Given the description of an element on the screen output the (x, y) to click on. 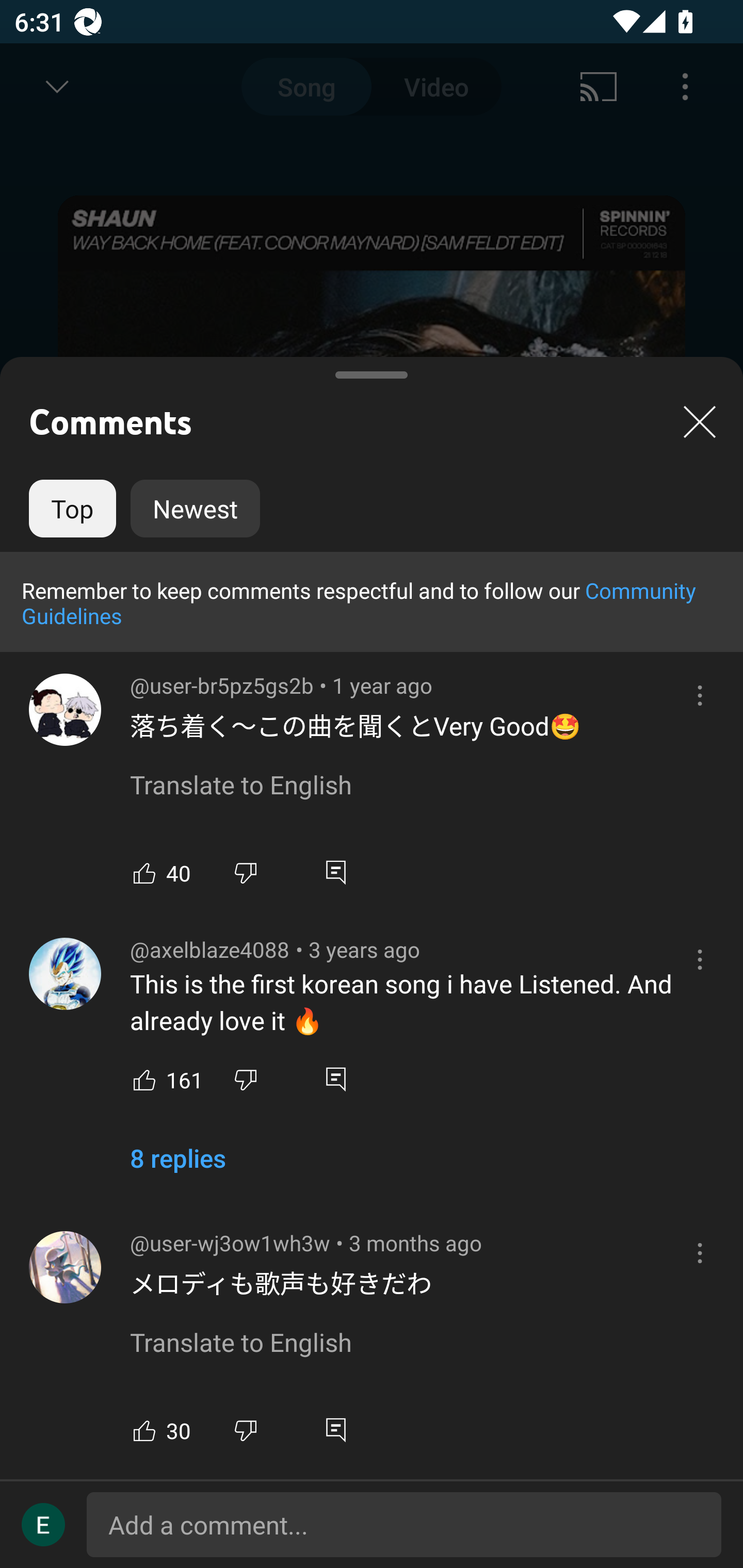
Drag handle (371, 367)
Close (699, 421)
Top (71, 508)
Newest (195, 508)
Action menu (349, 635)
@user-br5pz5gs2b (64, 710)
Translate to English (241, 786)
Like this comment along with 40 other people (144, 872)
Dislike this comment (245, 872)
Reply (335, 872)
@axelblaze4088 (64, 973)
Like this comment along with 161 other people (144, 1079)
Dislike this comment (245, 1079)
Reply (335, 1079)
View 8 total replies (177, 1165)
@user-wj3ow1wh3w (64, 1266)
Translate to English (241, 1343)
Like this comment along with 30 other people (144, 1430)
Dislike this comment (245, 1430)
Reply (335, 1430)
